Given the description of an element on the screen output the (x, y) to click on. 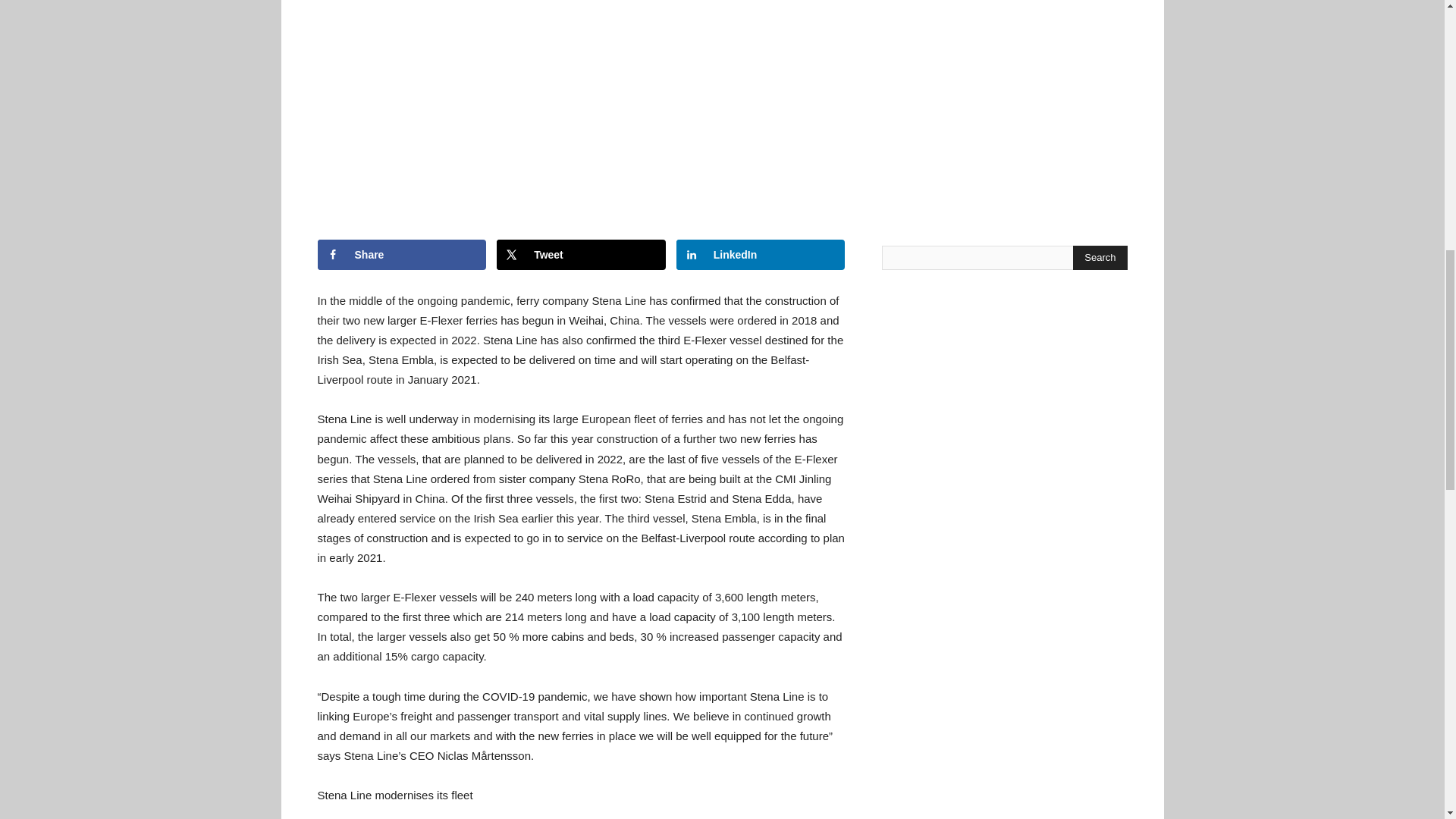
Search (1099, 257)
Share on X (580, 254)
Share on LinkedIn (761, 254)
Share on Facebook (401, 254)
